Given the description of an element on the screen output the (x, y) to click on. 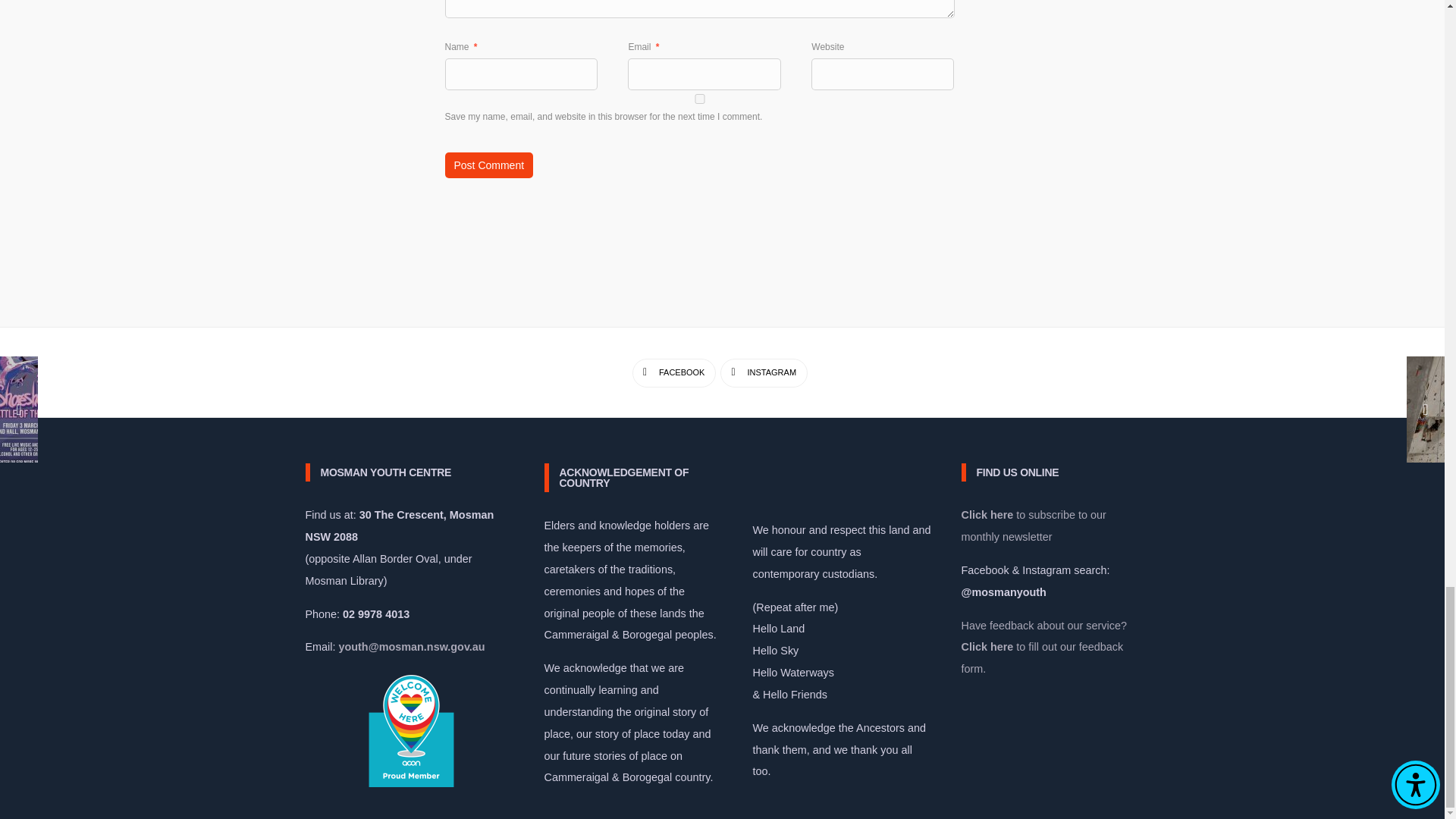
Post Comment (488, 165)
INSTAGRAM (764, 372)
Click here to subscribe to our monthly newsletter (1033, 525)
Facebook (673, 372)
FACEBOOK (673, 372)
yes (698, 99)
Post Comment (488, 165)
Instagram (764, 372)
